Given the description of an element on the screen output the (x, y) to click on. 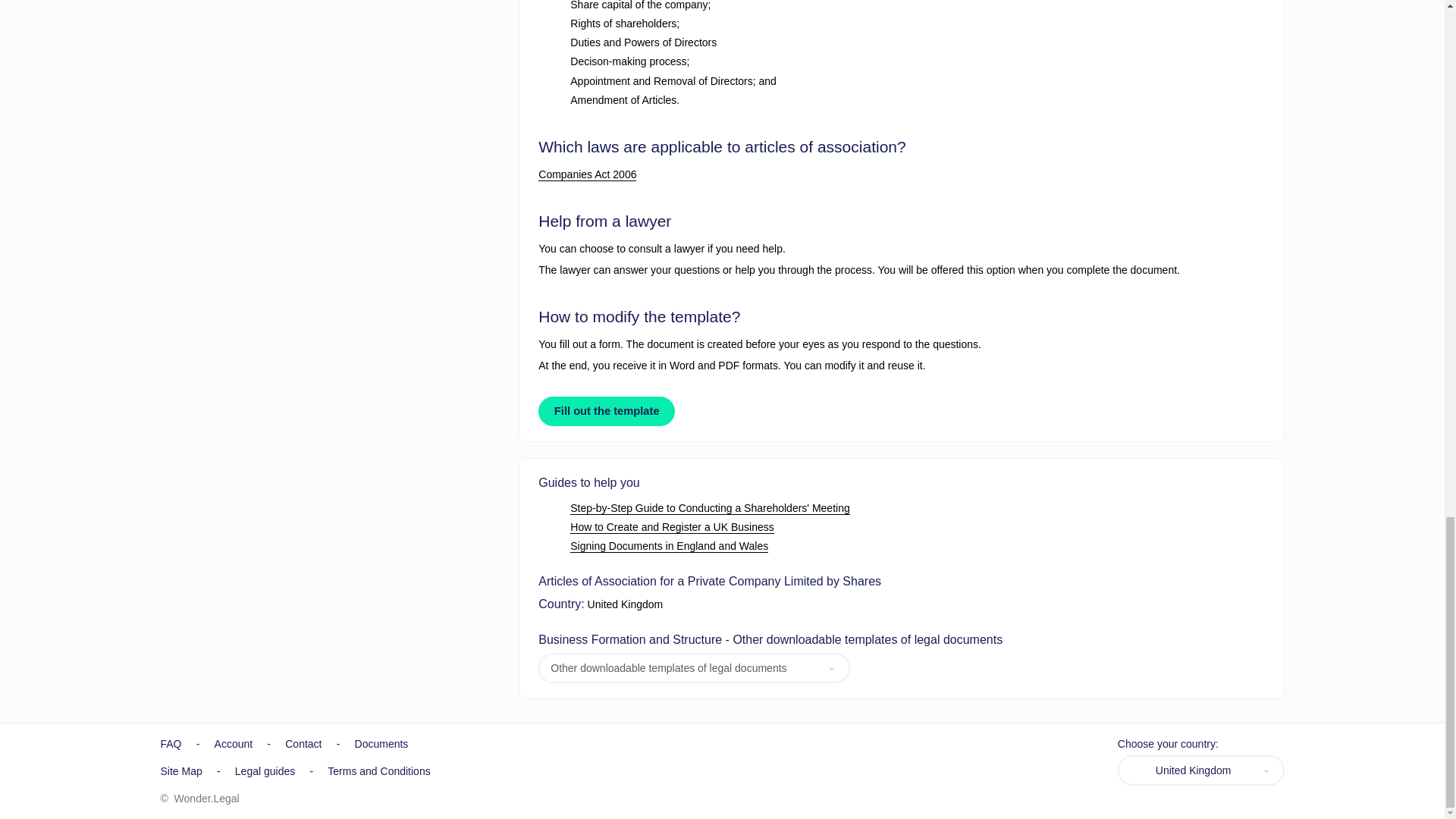
Documents (382, 743)
Fill out the template (606, 410)
FAQ (171, 743)
Legal guides (264, 770)
Account (233, 743)
Terms and Conditions (378, 770)
Companies Act 2006 (587, 174)
Step-by-Step Guide to Conducting a Shareholders' Meeting (709, 508)
Contact (303, 743)
How to Create and Register a UK Business (671, 526)
Site Map (181, 770)
Signing Documents in England and Wales (669, 545)
